Given the description of an element on the screen output the (x, y) to click on. 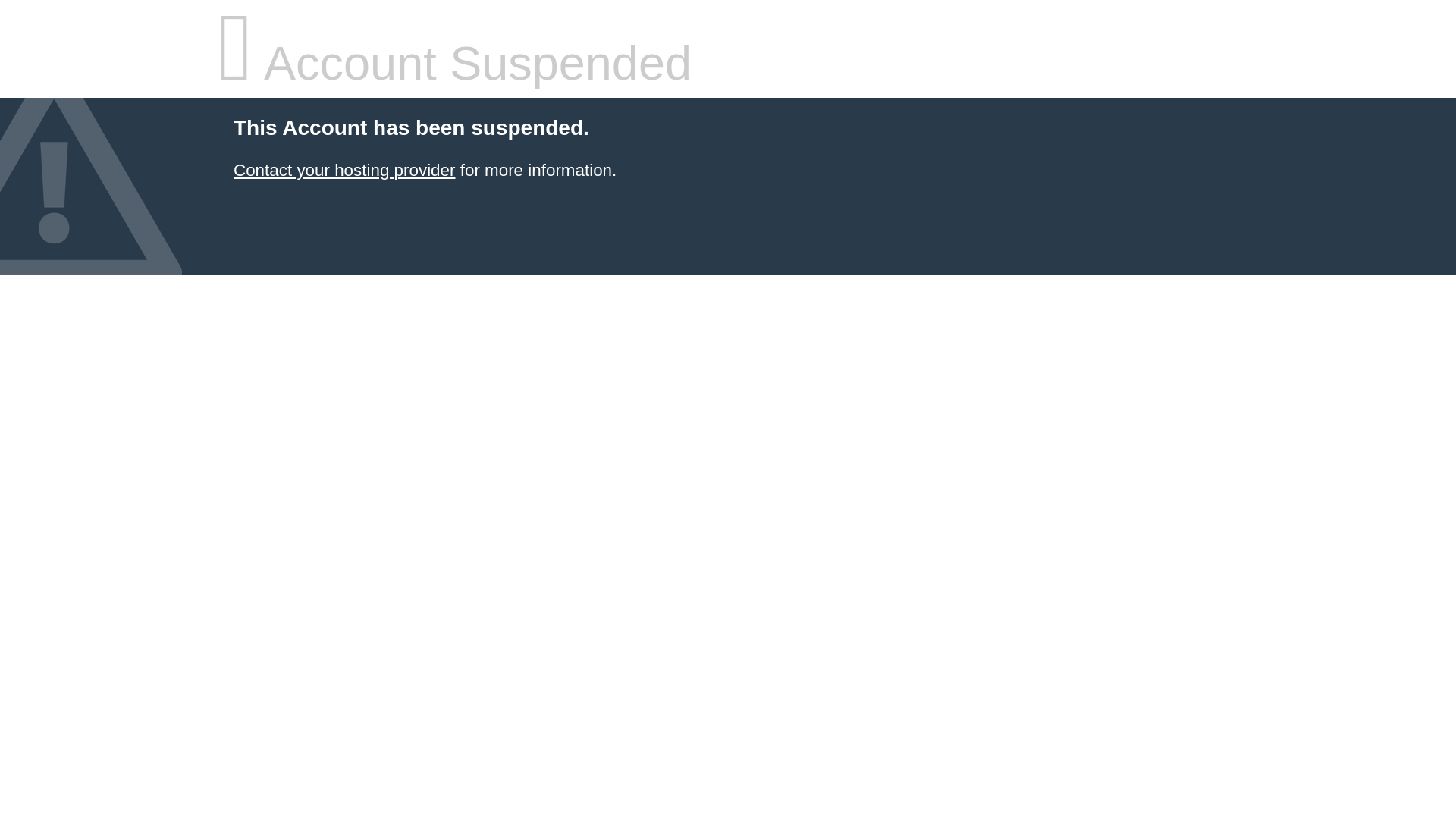
Contact your hosting provider (343, 169)
